Given the description of an element on the screen output the (x, y) to click on. 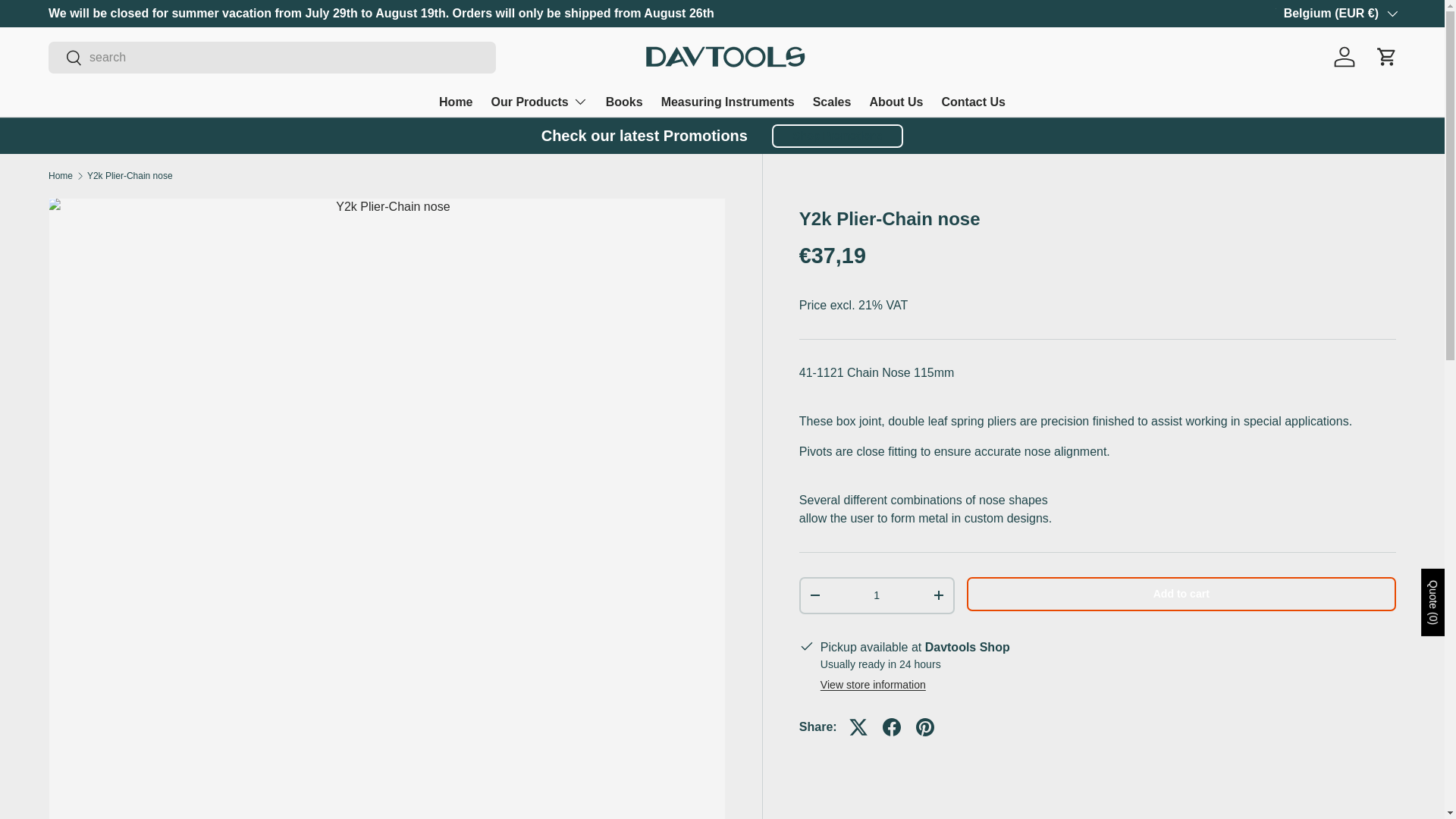
Cart (1386, 56)
Search (65, 58)
Tweet on X (858, 726)
Log in (1344, 56)
1 (876, 594)
Skip to content (69, 21)
Pin on Pinterest (925, 726)
Home (455, 101)
Our Products (540, 101)
Share on Facebook (891, 726)
